Given the description of an element on the screen output the (x, y) to click on. 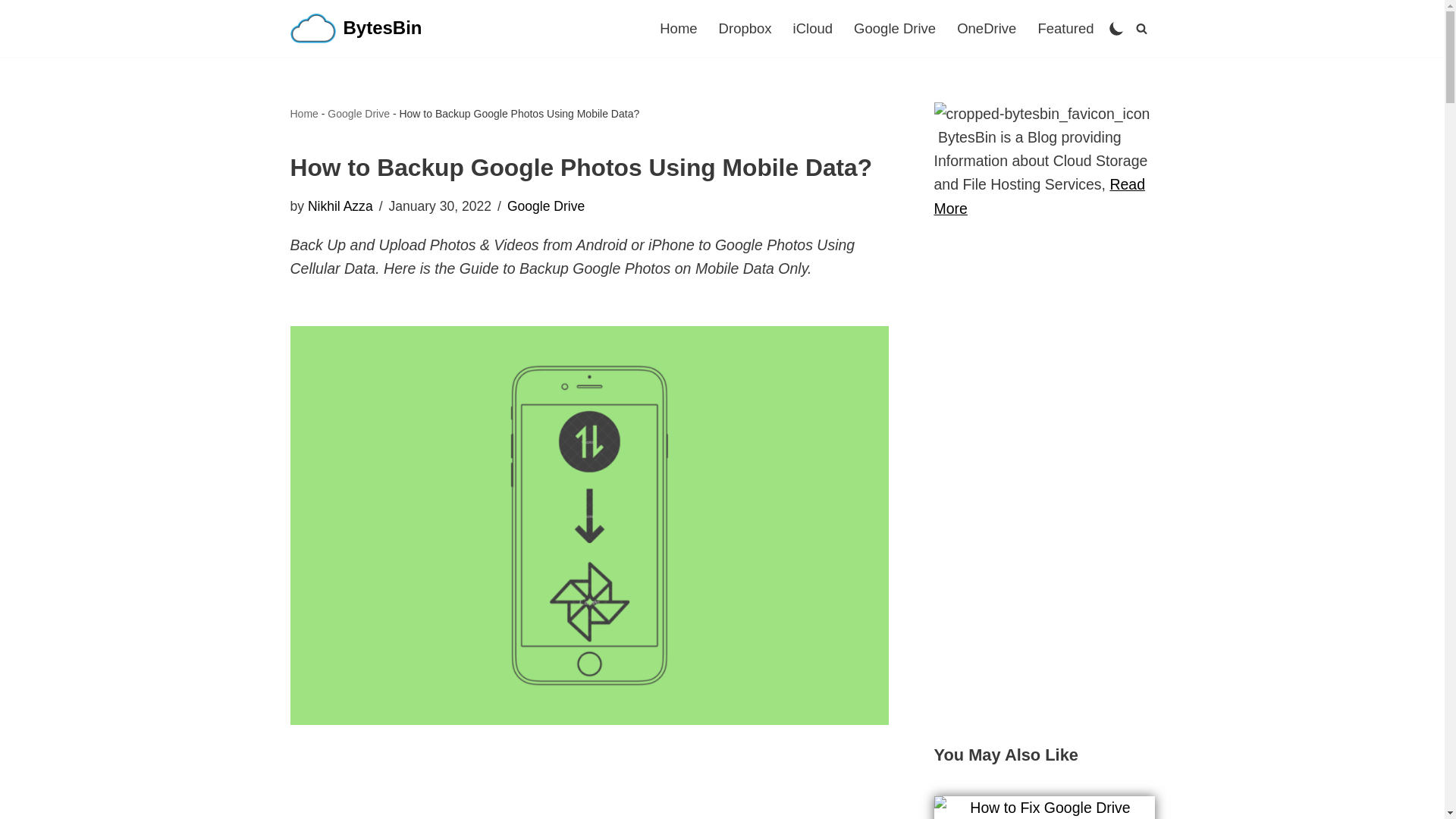
OneDrive (986, 28)
Read More (1039, 196)
Skip to content (11, 31)
Google Drive (894, 28)
Dropbox (745, 28)
BytesBin (355, 28)
iCloud (812, 28)
Posts by Nikhil Azza (339, 206)
Nikhil Azza (339, 206)
Featured (1064, 28)
Home (678, 28)
Home (303, 113)
Google Drive (545, 206)
Google Drive (358, 113)
